Given the description of an element on the screen output the (x, y) to click on. 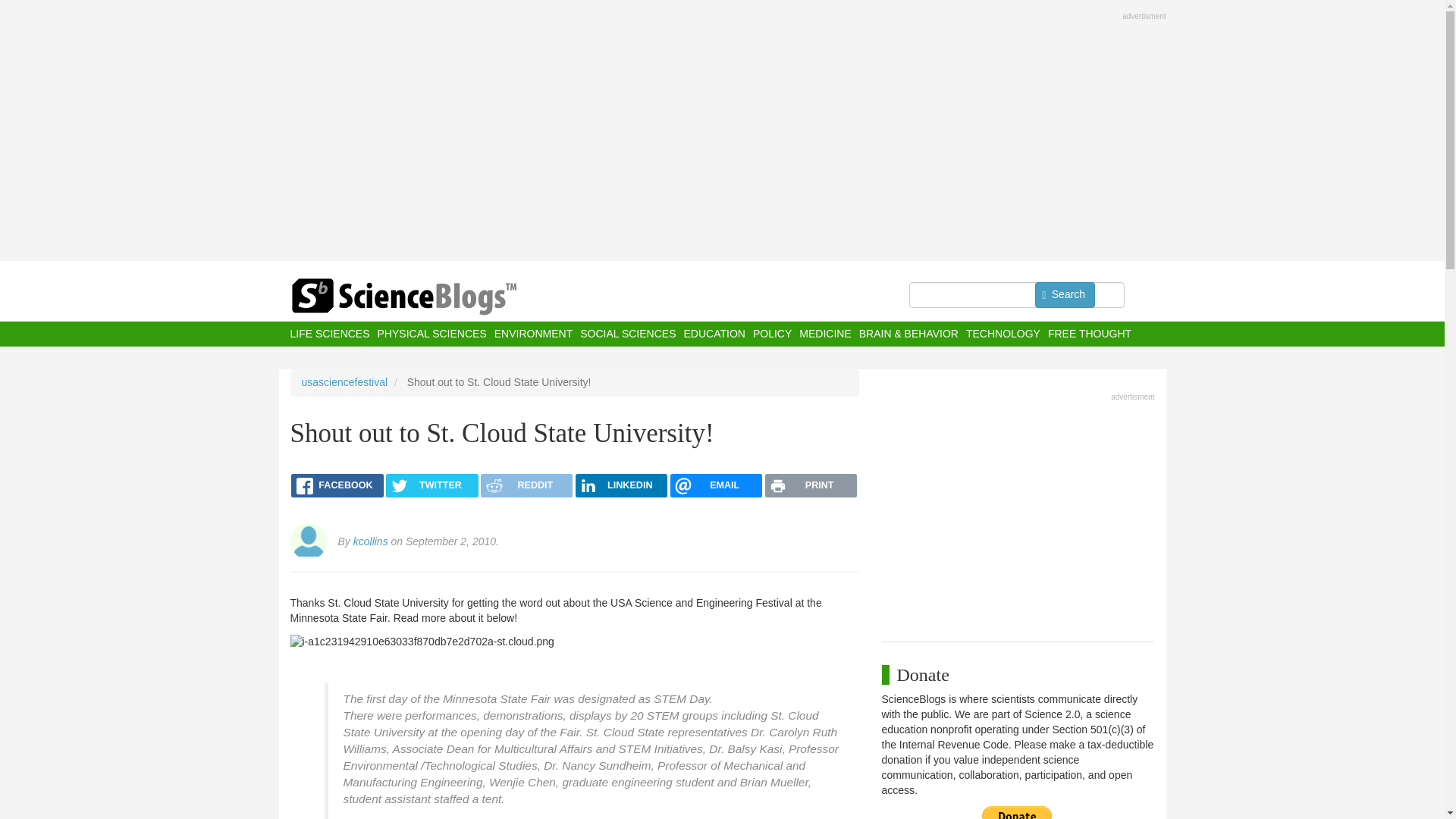
EDUCATION (713, 334)
FREE THOUGHT (1089, 334)
LINKEDIN (620, 485)
REDDIT (526, 485)
EMAIL (715, 485)
MEDICINE (824, 334)
PRINT (811, 485)
Advertisement (1017, 512)
POLICY (772, 334)
PayPal - The safer, easier way to pay online! (1016, 812)
TECHNOLOGY (1003, 334)
Search (1064, 294)
LIFE SCIENCES (329, 334)
TWITTER (431, 485)
FACEBOOK (336, 485)
